Given the description of an element on the screen output the (x, y) to click on. 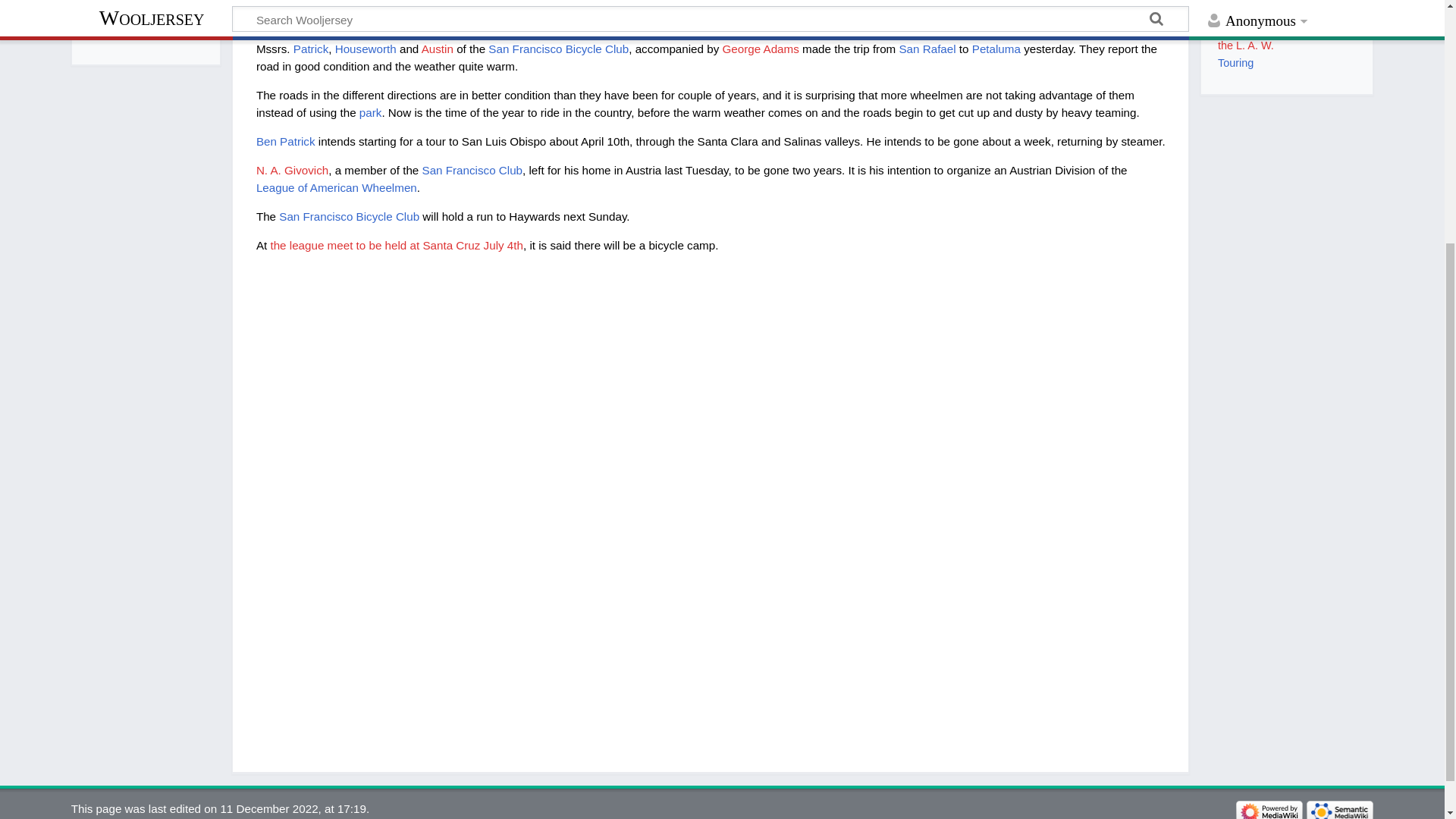
San Rafael (926, 48)
the league meet to be held at Santa Cruz July 4th (395, 245)
George Adams (759, 48)
Ben Patrick (285, 141)
San Francisco Club (472, 169)
park (370, 112)
San Francisco Bicycle Club (349, 215)
G. P. Mills (348, 4)
San Francisco Bicycle Club (557, 48)
Austin (437, 48)
